Given the description of an element on the screen output the (x, y) to click on. 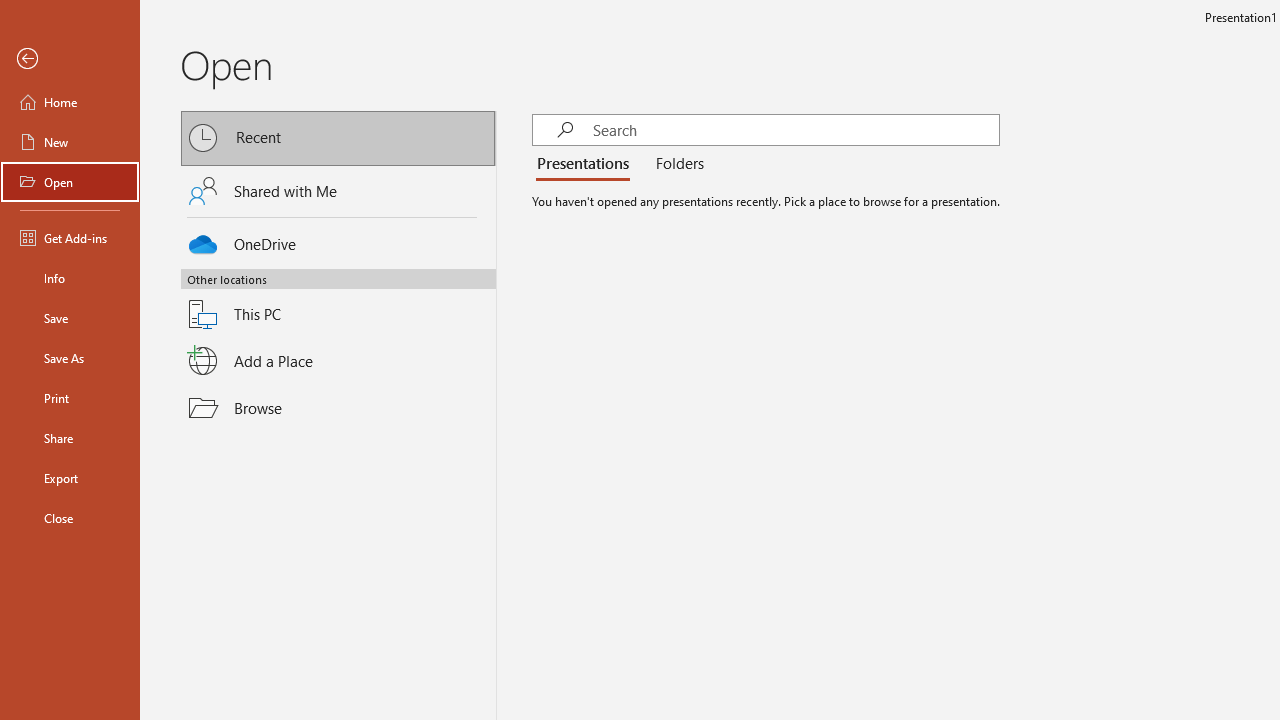
Export (69, 477)
Save As (69, 357)
This PC (338, 302)
Get Add-ins (69, 237)
Add a Place (338, 361)
Presentations (587, 164)
Print (69, 398)
